Given the description of an element on the screen output the (x, y) to click on. 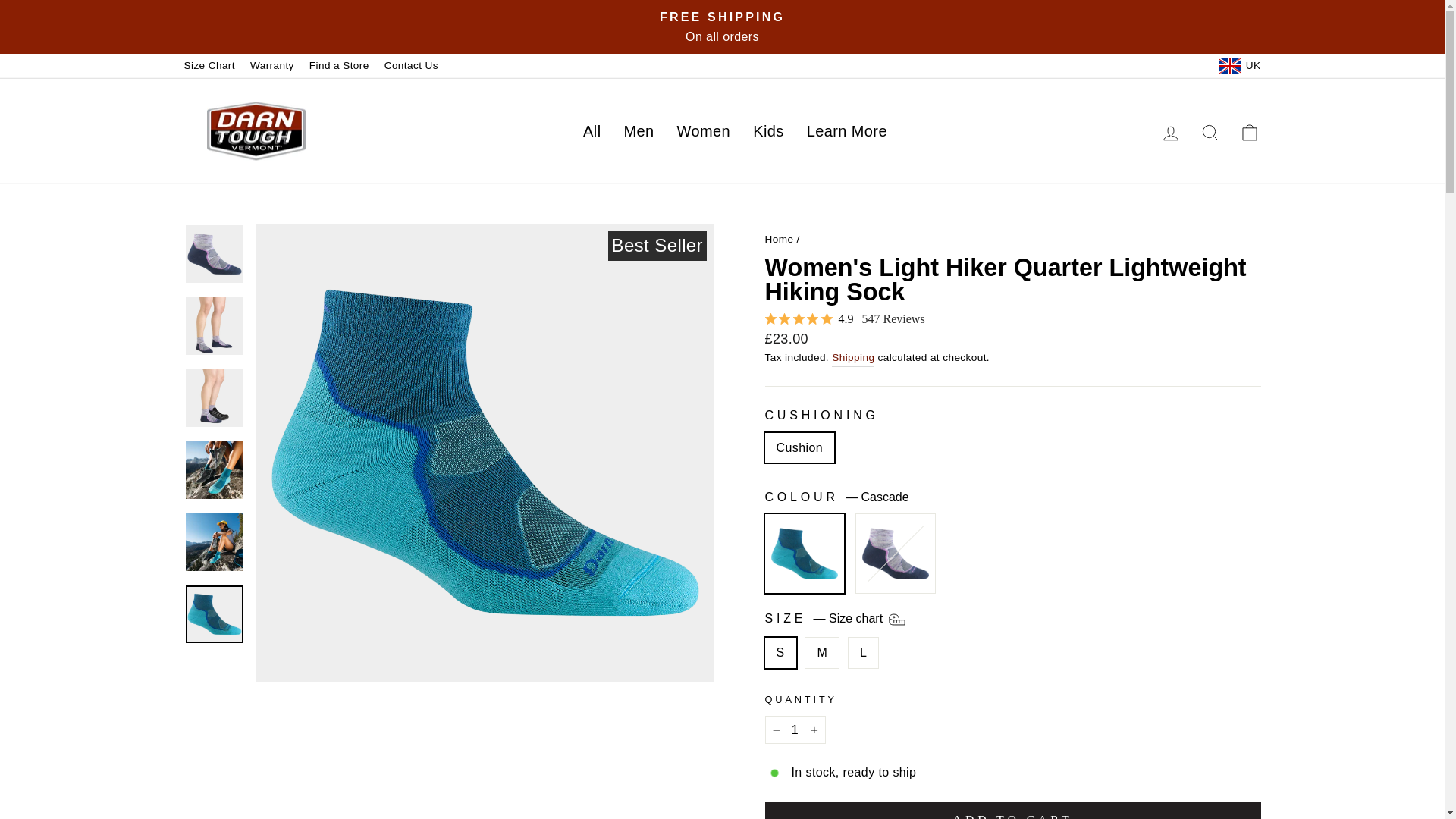
Back to the frontpage (778, 238)
1 (794, 729)
